Given the description of an element on the screen output the (x, y) to click on. 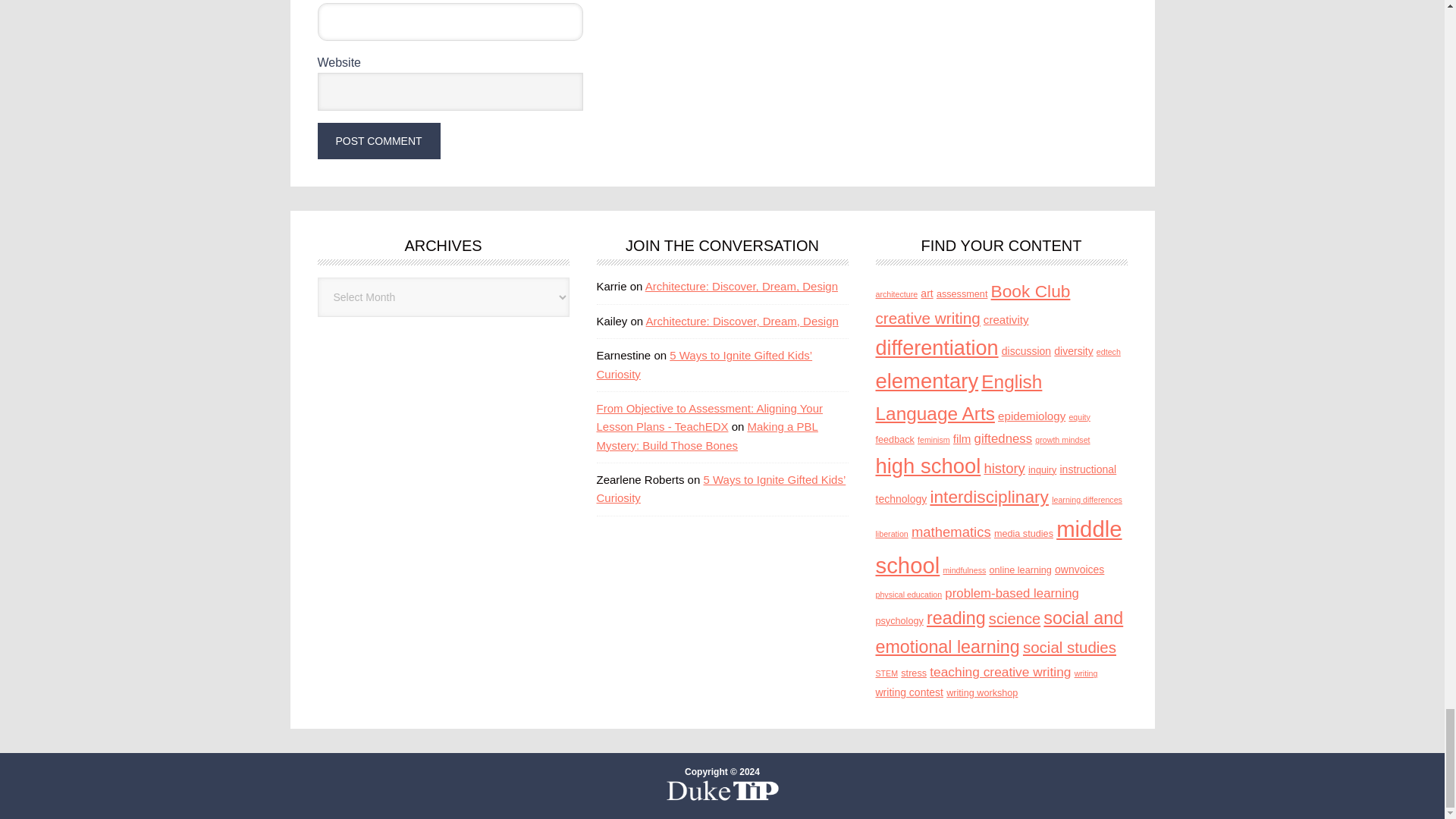
Post Comment (378, 140)
